Given the description of an element on the screen output the (x, y) to click on. 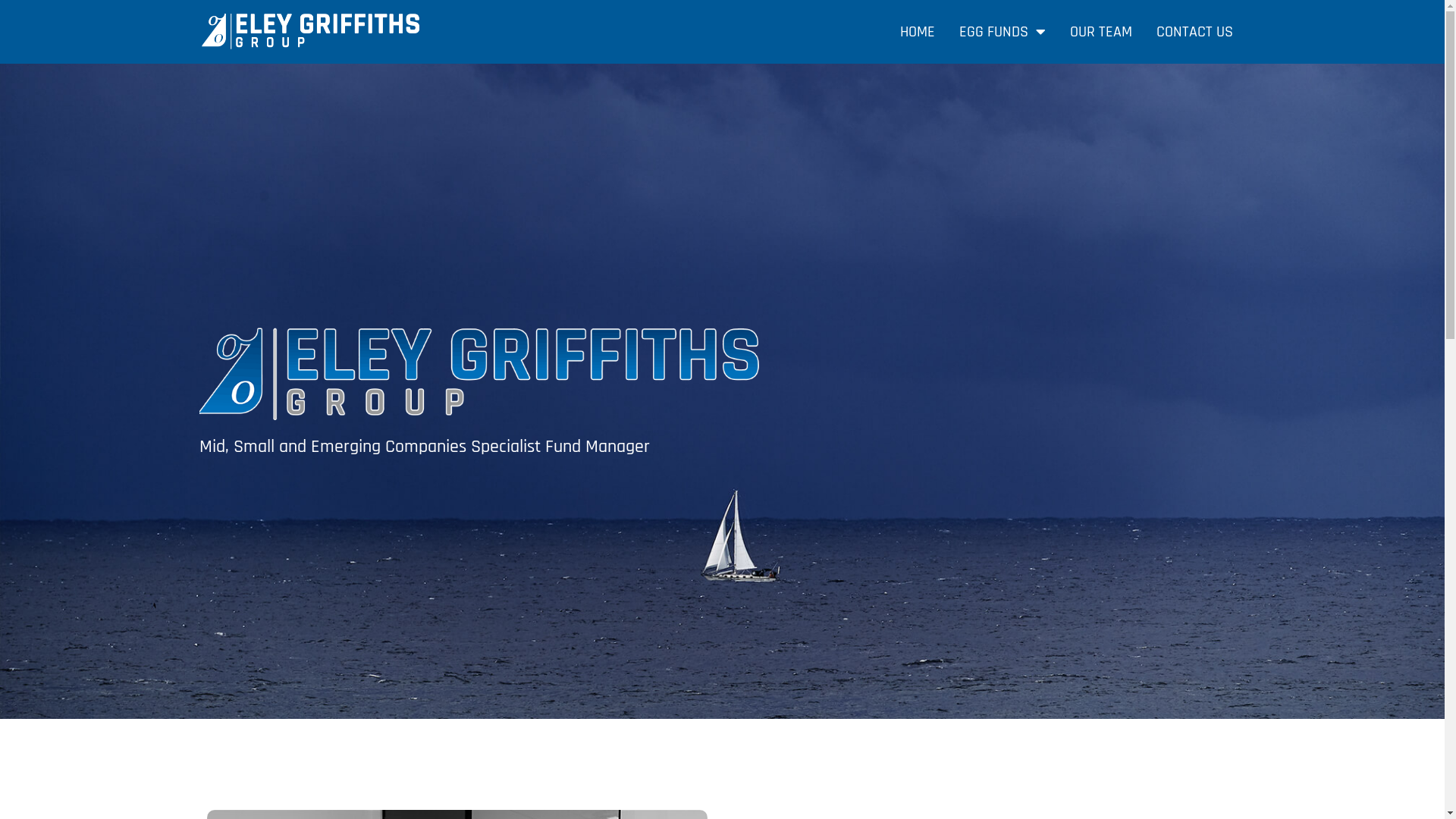
OUR TEAM Element type: text (1100, 31)
HOME Element type: text (917, 31)
EGG FUNDS Element type: text (1002, 31)
CONTACT US Element type: text (1194, 31)
